Given the description of an element on the screen output the (x, y) to click on. 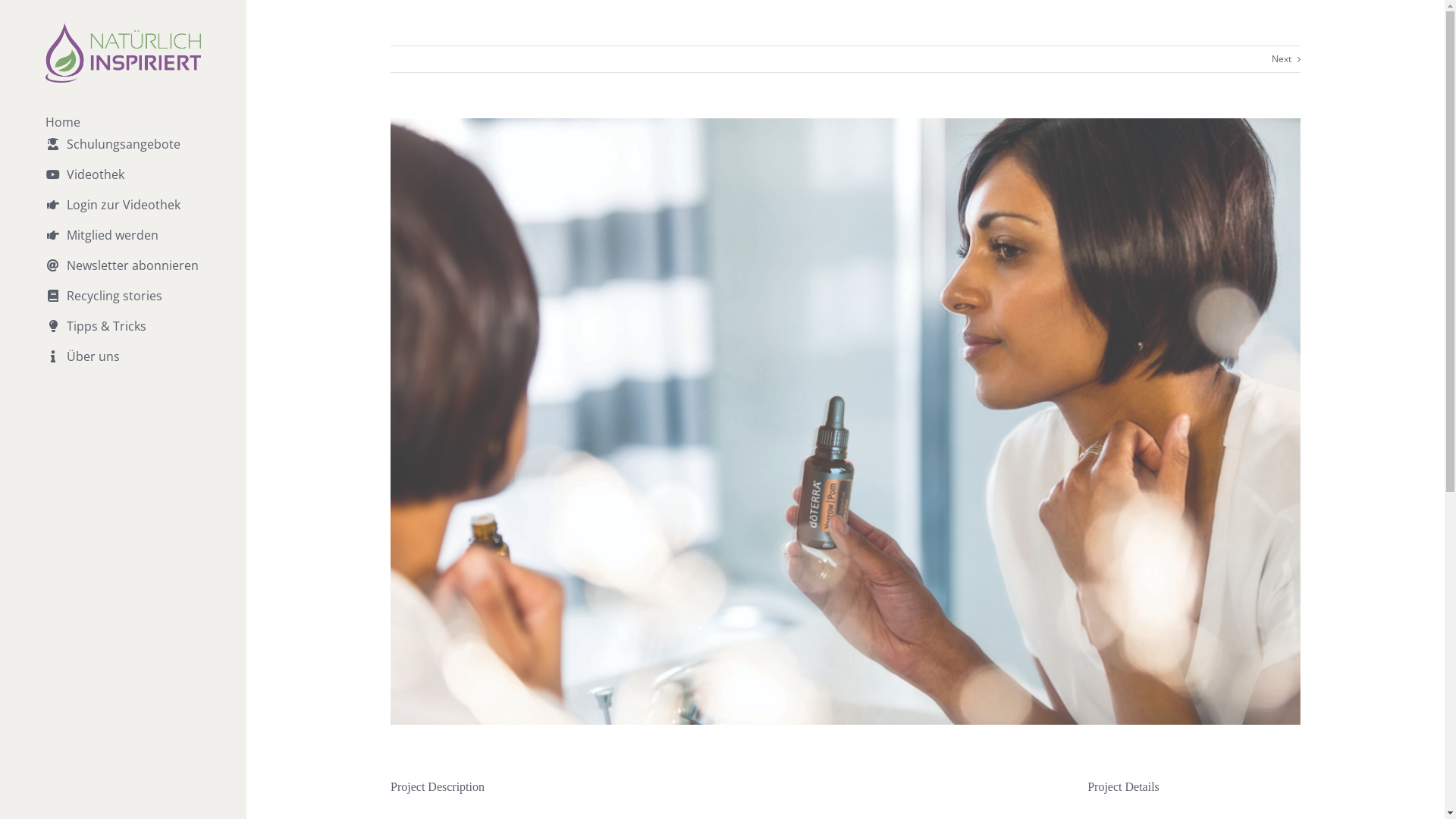
Schulungsangebote Element type: text (123, 153)
Videothek Element type: text (123, 183)
Home Element type: text (123, 122)
Next Element type: text (1281, 59)
Login zur Videothek Element type: text (123, 213)
View Larger Image Element type: text (845, 421)
Mitglied werden Element type: text (123, 244)
Newsletter abonnieren Element type: text (123, 274)
Recycling stories Element type: text (123, 304)
Tipps & Tricks Element type: text (123, 335)
